Given the description of an element on the screen output the (x, y) to click on. 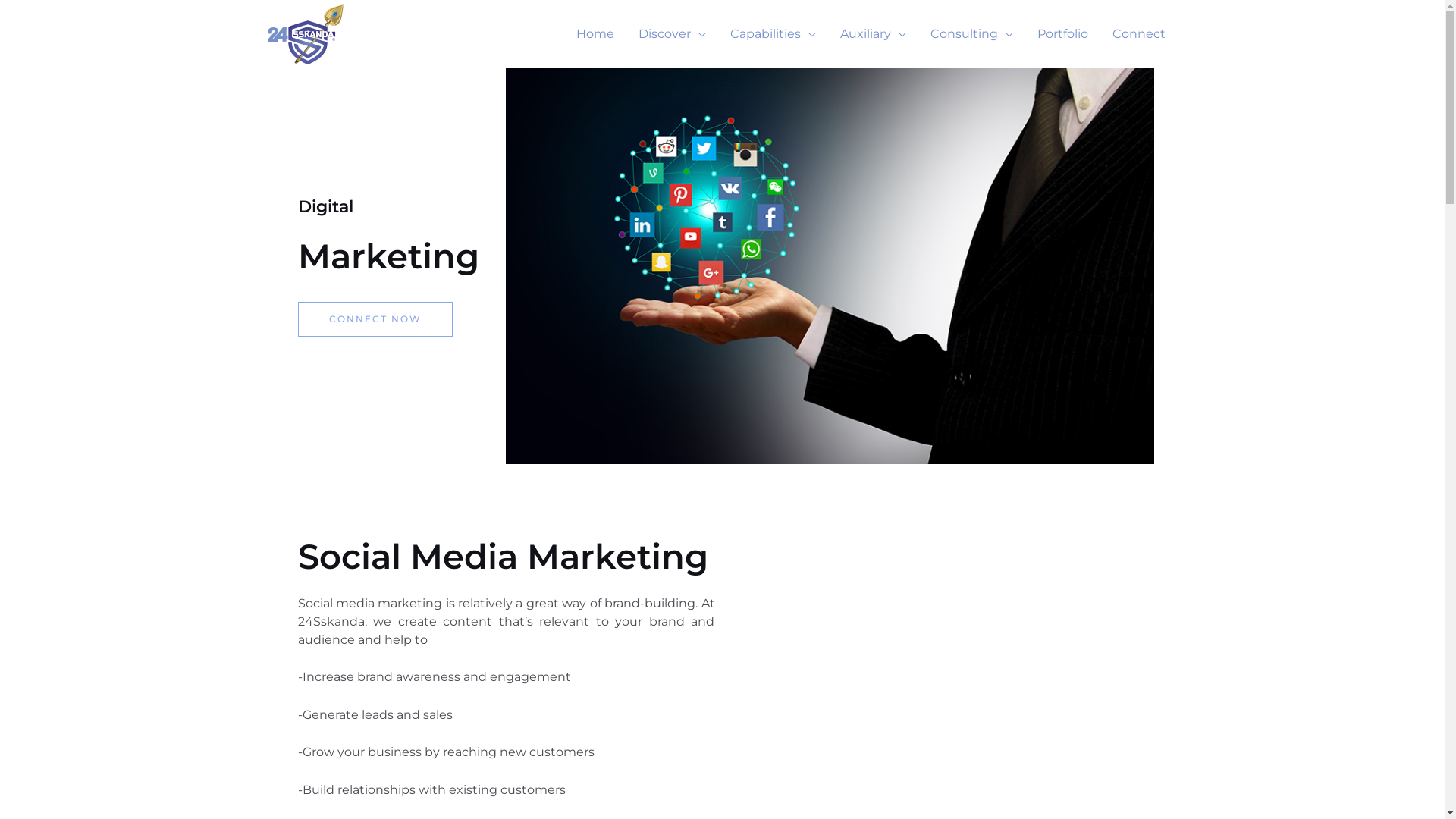
Connect Element type: text (1137, 33)
Home Element type: text (595, 33)
Consulting Element type: text (970, 33)
Capabilities Element type: text (772, 33)
Discover Element type: text (672, 33)
CONNECT NOW Element type: text (374, 318)
Portfolio Element type: text (1062, 33)
Auxiliary Element type: text (873, 33)
